Given the description of an element on the screen output the (x, y) to click on. 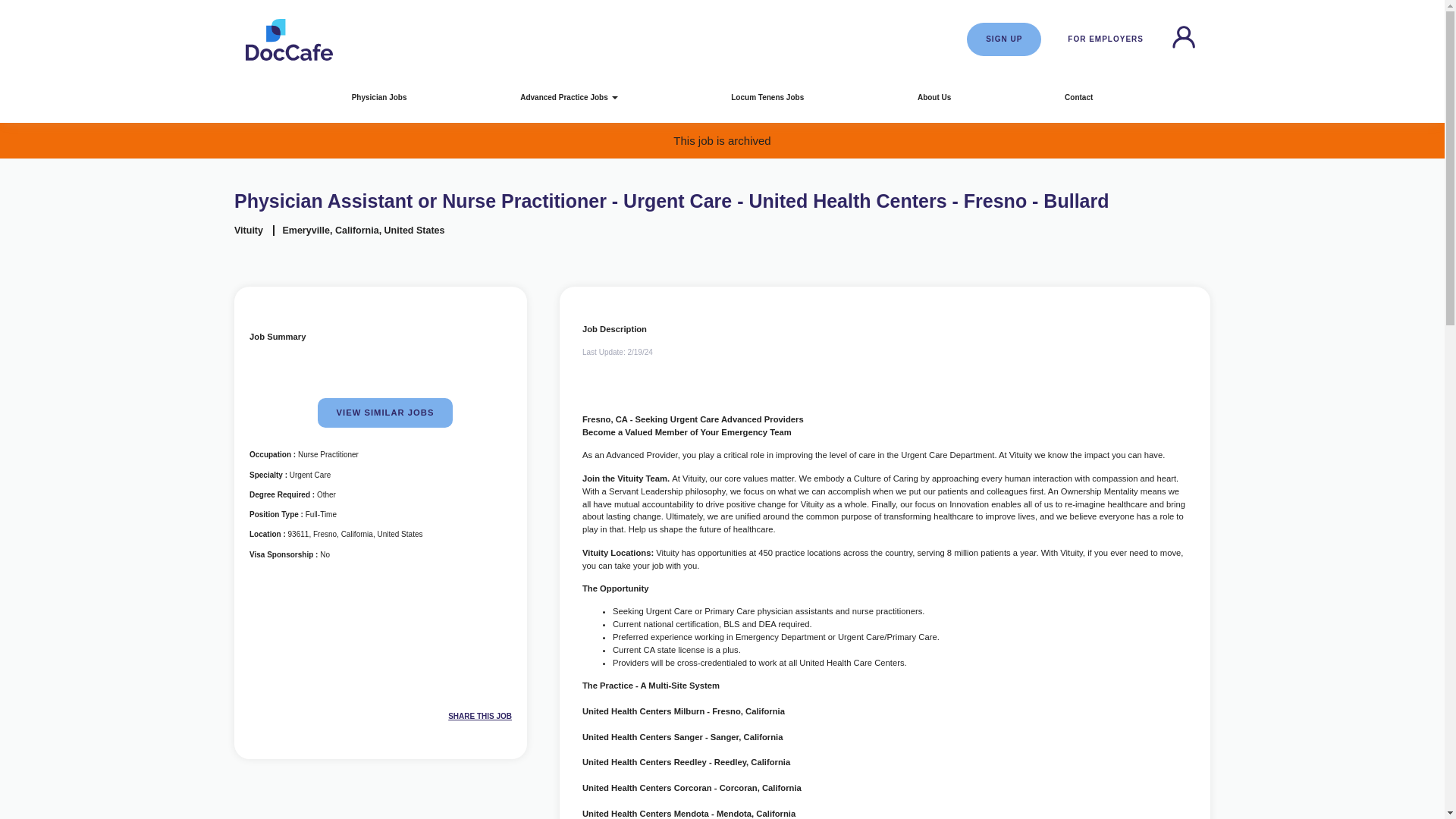
SHARE THIS JOB (451, 716)
Locum Tenens Jobs (766, 97)
For Employers (1104, 39)
Sign Up (1003, 39)
Advanced Practice Jobs (568, 97)
About Us (934, 97)
FOR EMPLOYERS (1104, 39)
VIEW SIMILAR JOBS (384, 412)
SIGN UP (1003, 39)
Vituity (248, 230)
Contact (1078, 97)
Physician Jobs (378, 97)
